Given the description of an element on the screen output the (x, y) to click on. 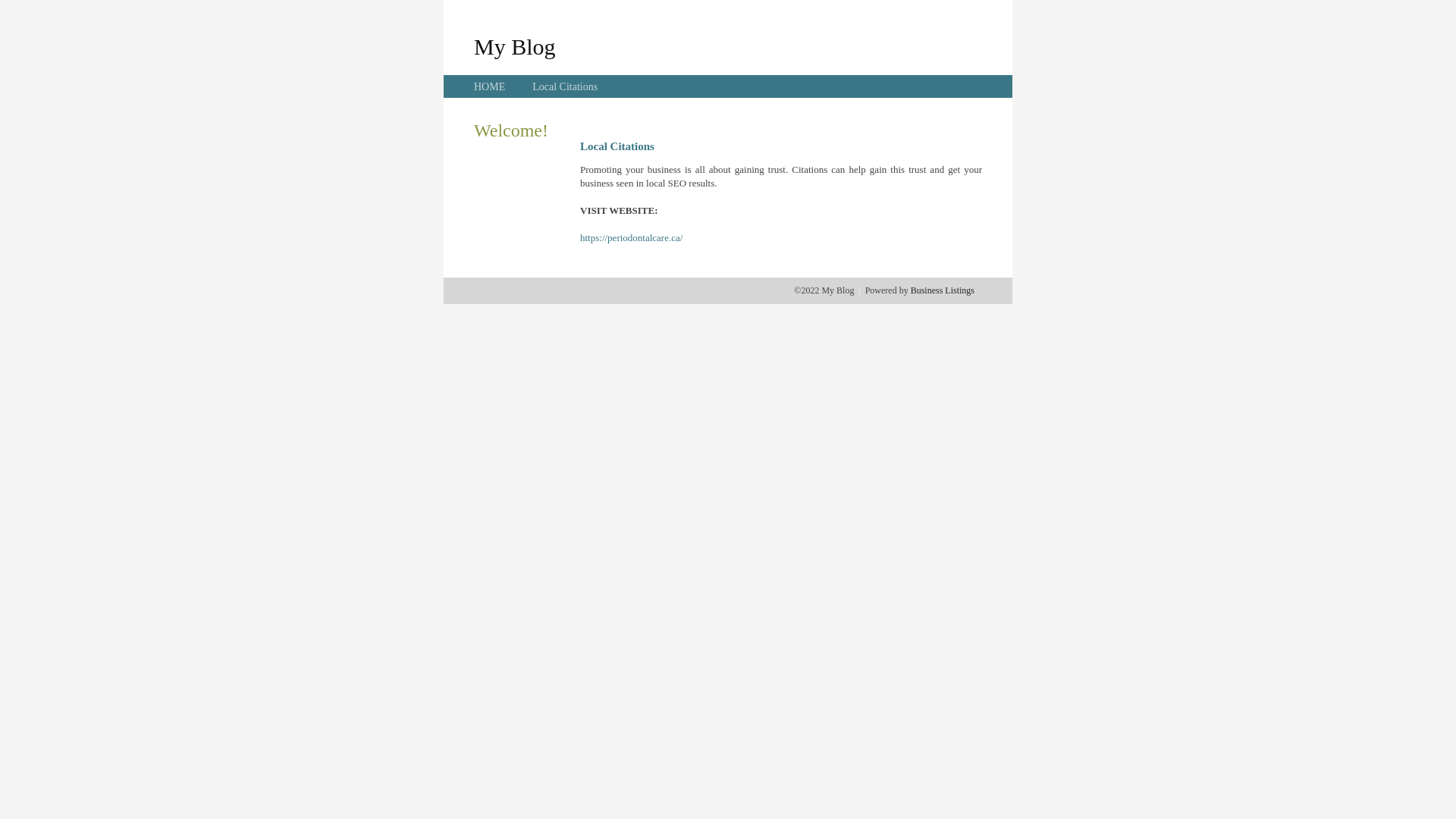
My Blog Element type: text (514, 46)
Business Listings Element type: text (942, 290)
https://periodontalcare.ca/ Element type: text (631, 237)
Local Citations Element type: text (564, 86)
HOME Element type: text (489, 86)
